Given the description of an element on the screen output the (x, y) to click on. 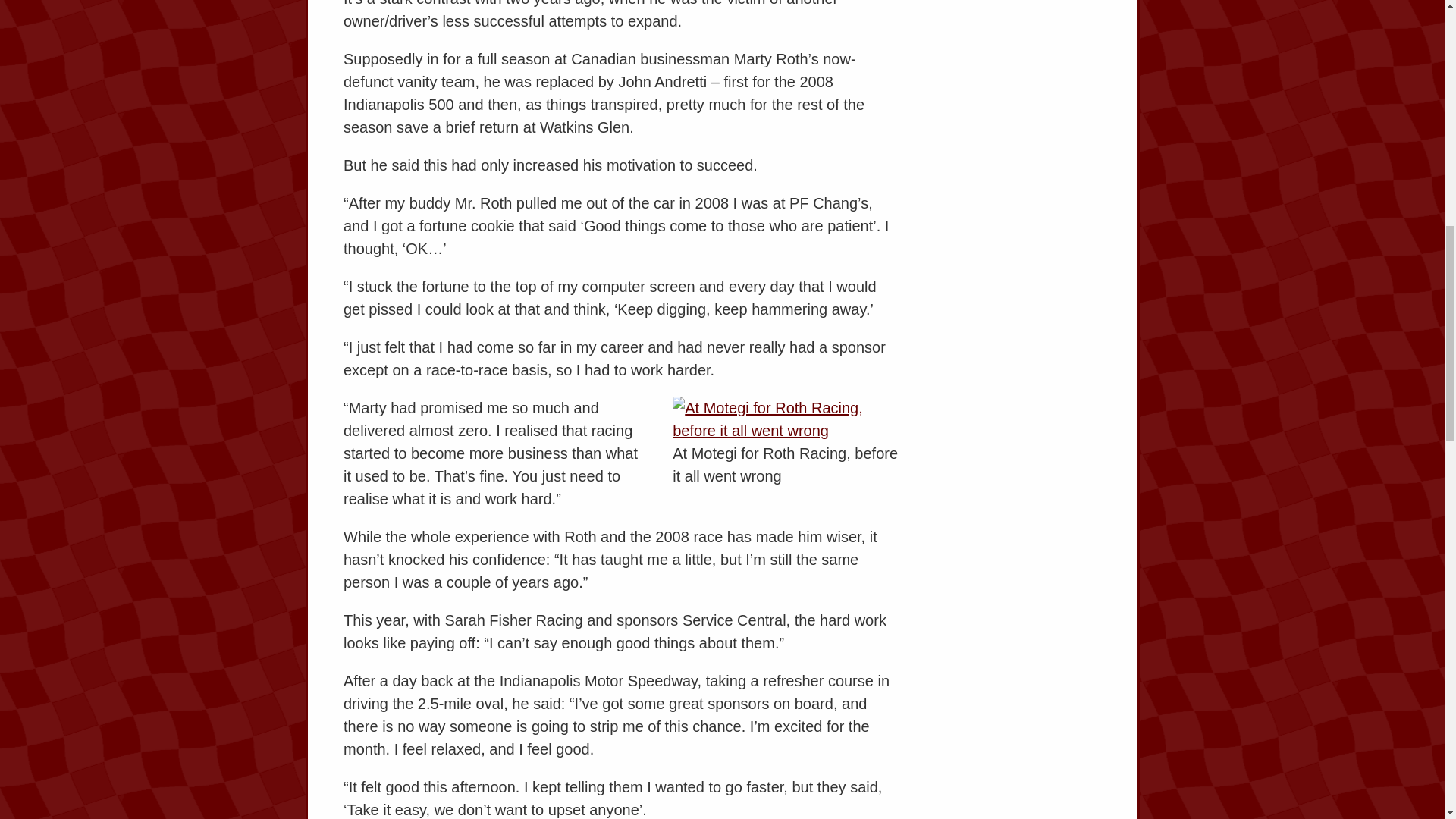
At Motegi for Roth Racing, before it all went wrong (785, 419)
